Given the description of an element on the screen output the (x, y) to click on. 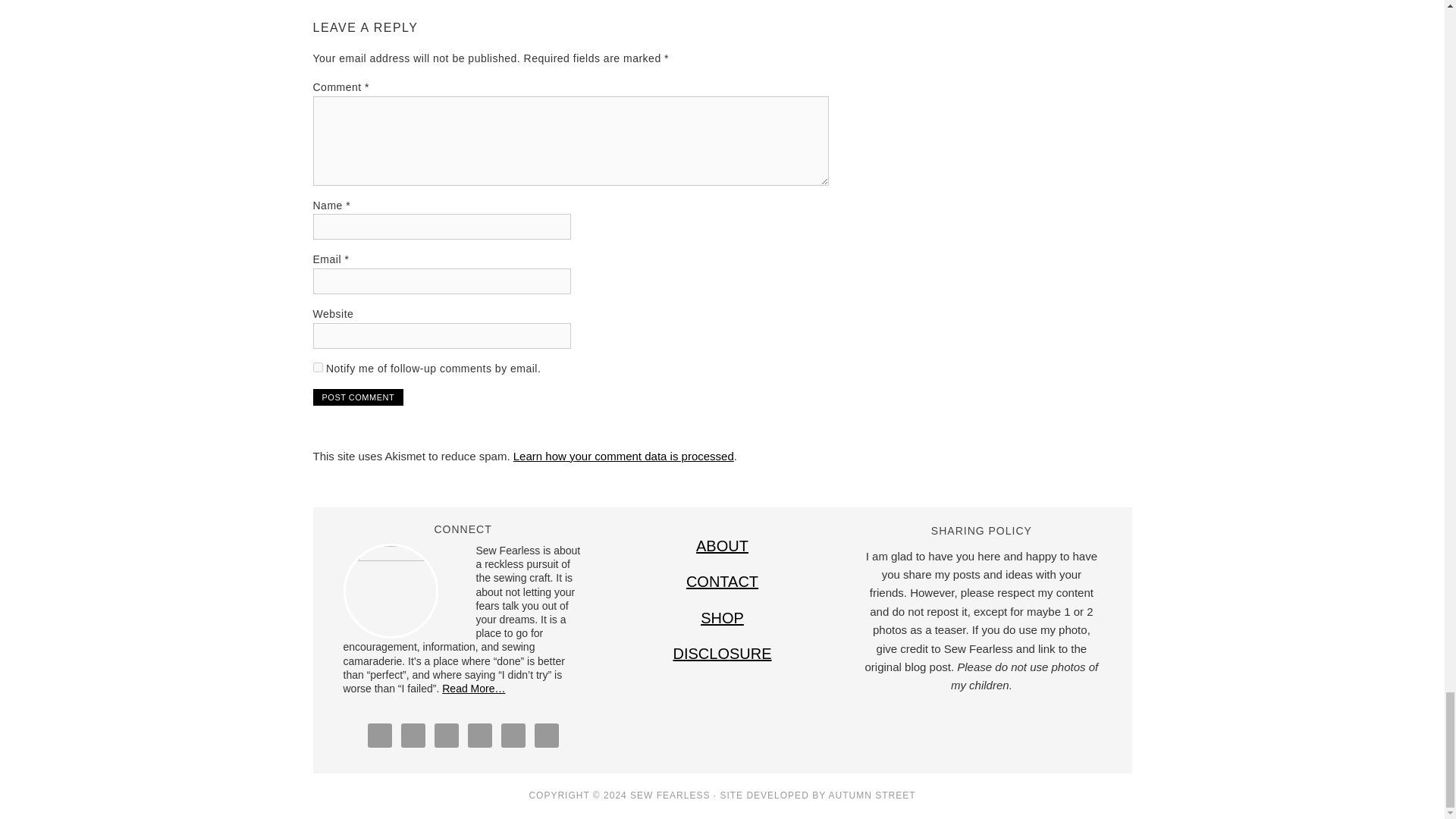
Post Comment (358, 397)
subscribe (317, 367)
